Given the description of an element on the screen output the (x, y) to click on. 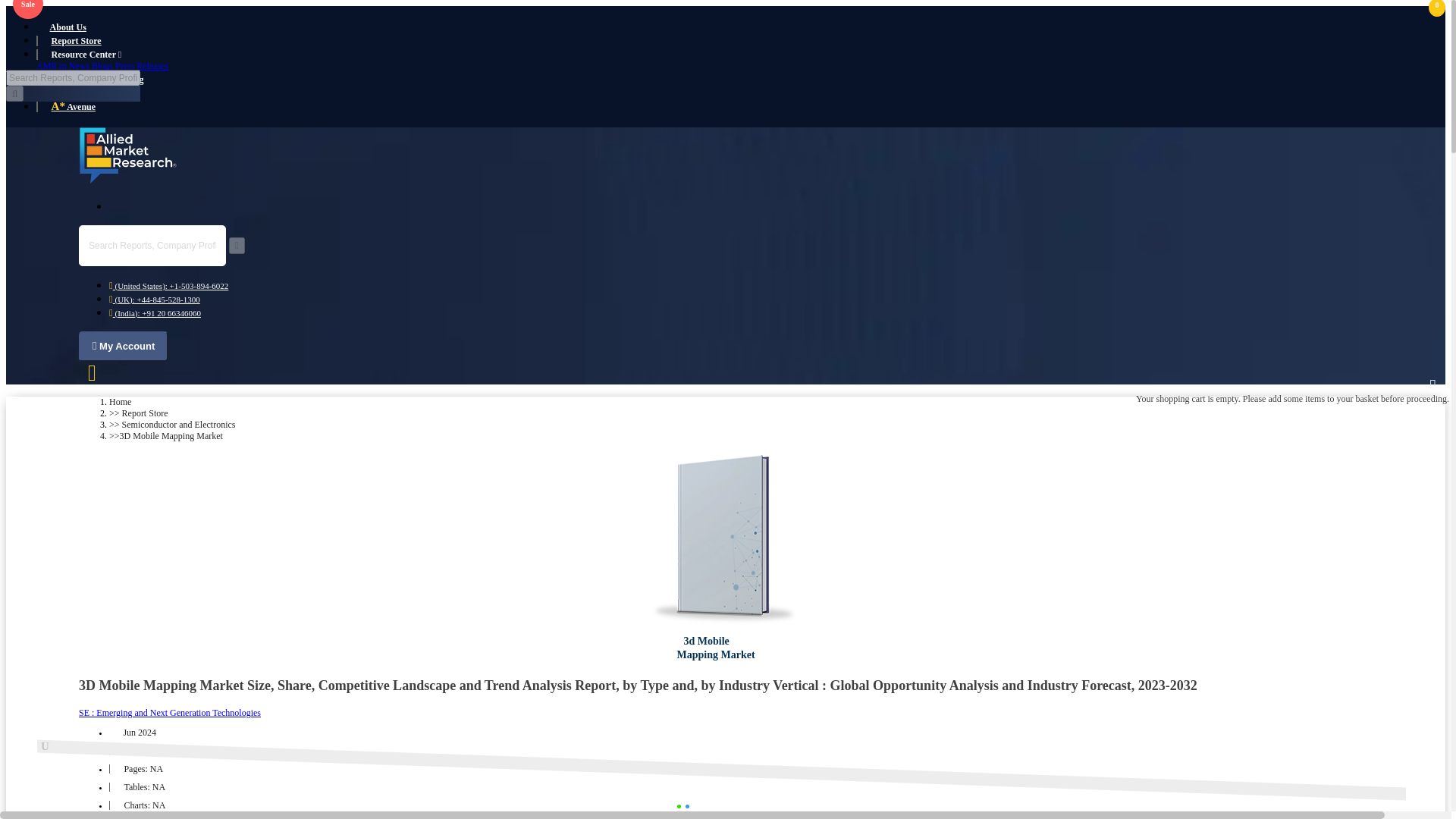
Report Store (145, 412)
Request For Consulting (96, 79)
Allied Market Research (725, 539)
Press Releases (141, 65)
Home (120, 401)
AMR in News (62, 65)
Allied Market Research (127, 155)
SE : Emerging and Next Generation Technologies (169, 712)
Semiconductor and Electronics (178, 424)
About Us (68, 27)
Report Store (75, 40)
Our Clients (73, 92)
Resource Center (85, 54)
Blogs (102, 65)
My Account (123, 346)
